Given the description of an element on the screen output the (x, y) to click on. 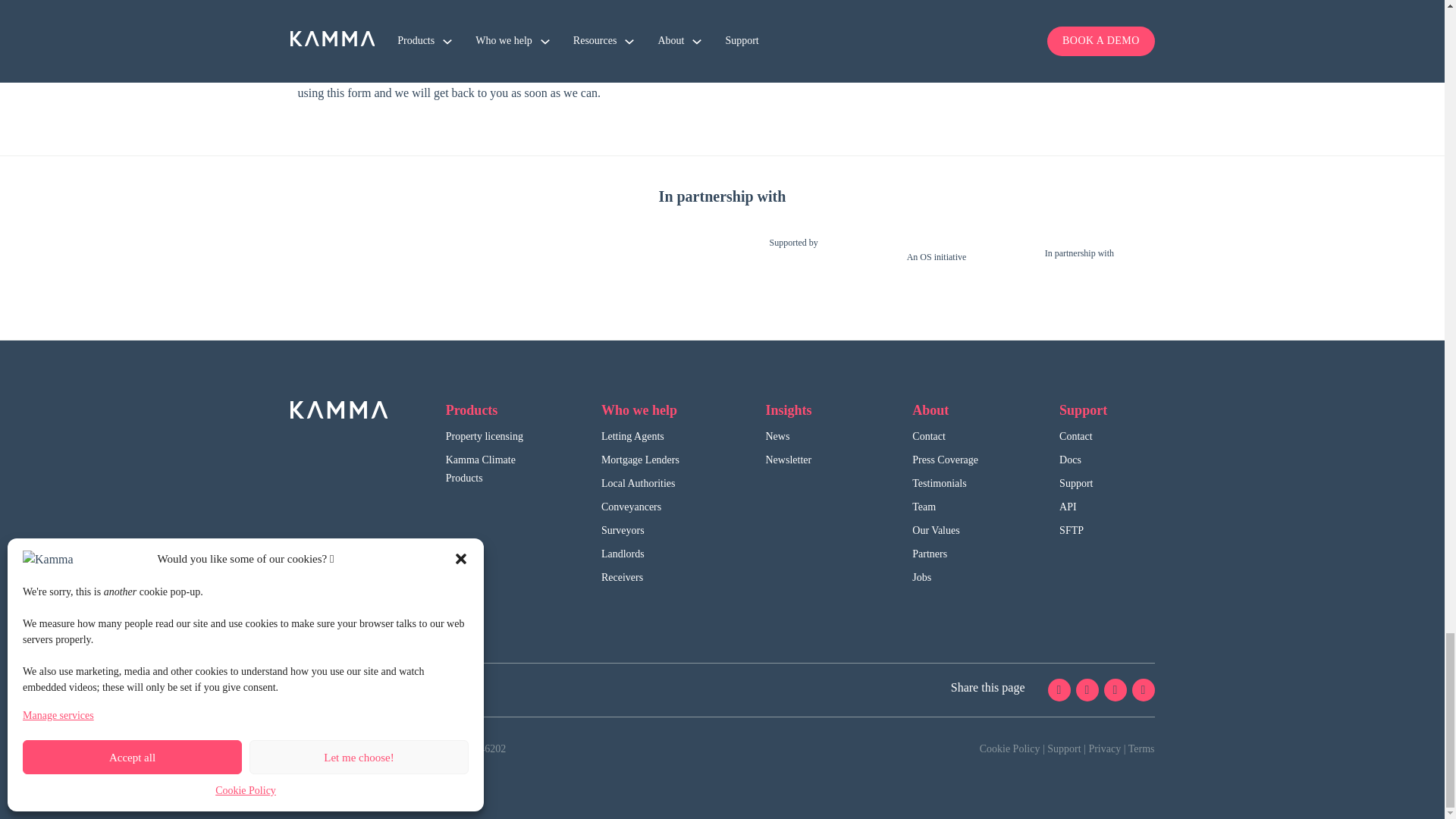
Kamma (338, 409)
Form 0 (945, 19)
